Given the description of an element on the screen output the (x, y) to click on. 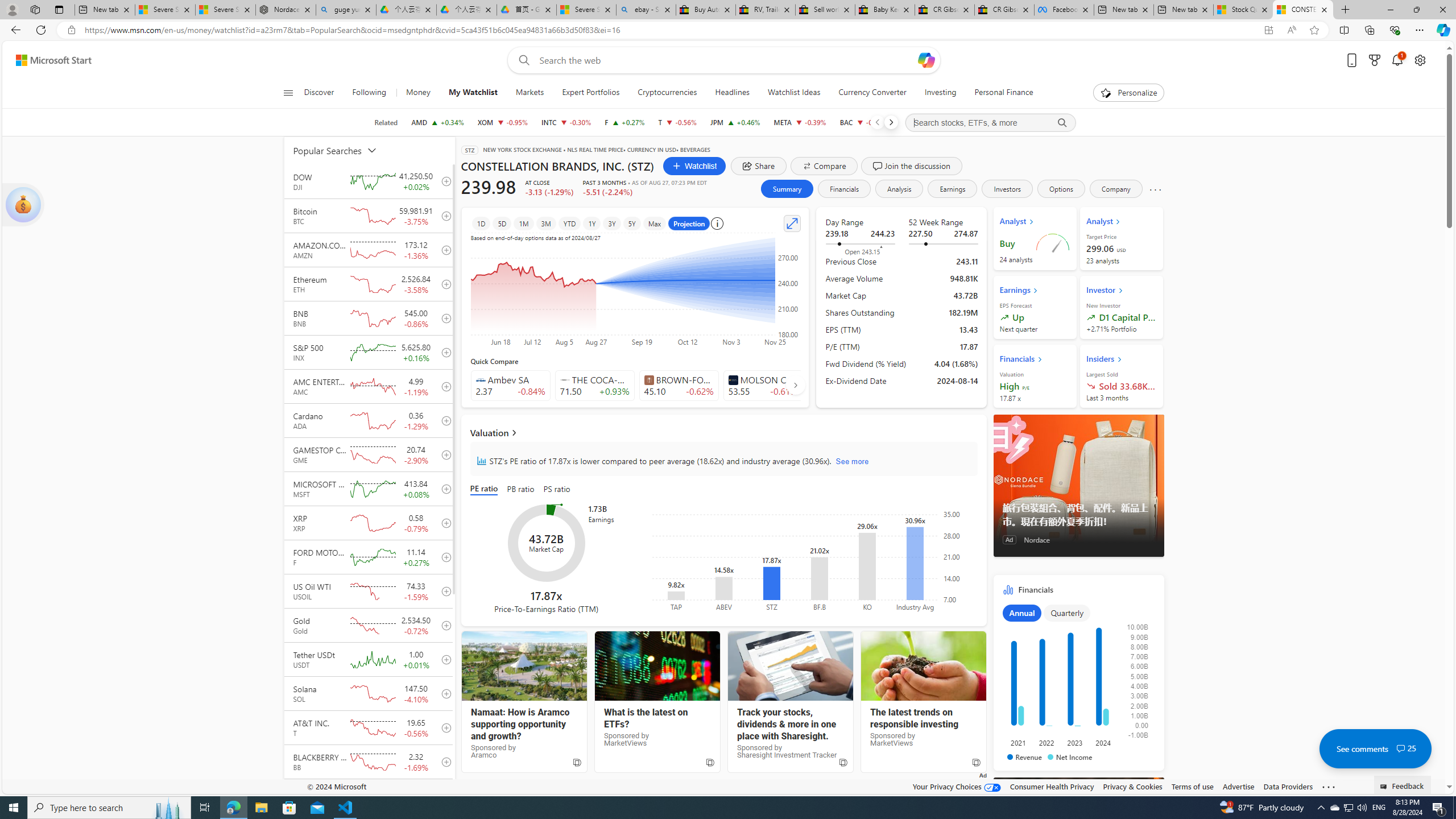
Cryptocurrencies (667, 92)
add to your watchlist (442, 795)
Class: cwt-icon-vector (1400, 748)
Max (654, 223)
Your Privacy Choices (956, 785)
Search stocks, ETFs, & more (989, 122)
Aramco (523, 666)
Enter your search term (726, 59)
Expert Portfolios (591, 92)
